Given the description of an element on the screen output the (x, y) to click on. 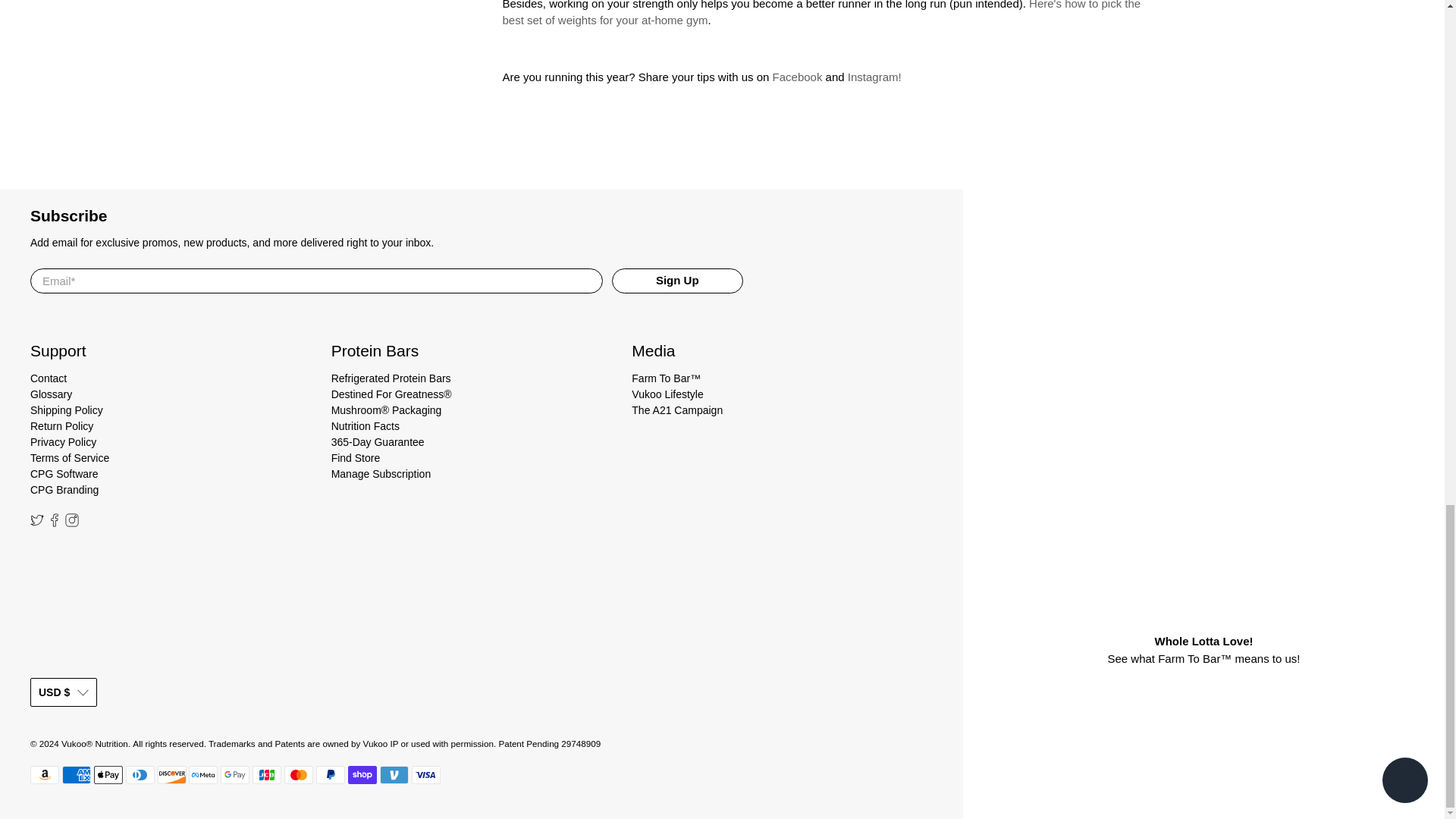
Meta Pay (202, 774)
Amazon (44, 774)
Venmo (394, 774)
Diners Club (139, 774)
Shop Pay (362, 774)
Google Pay (234, 774)
American Express (76, 774)
Apple Pay (108, 774)
JCB (266, 774)
Discover (171, 774)
